Given the description of an element on the screen output the (x, y) to click on. 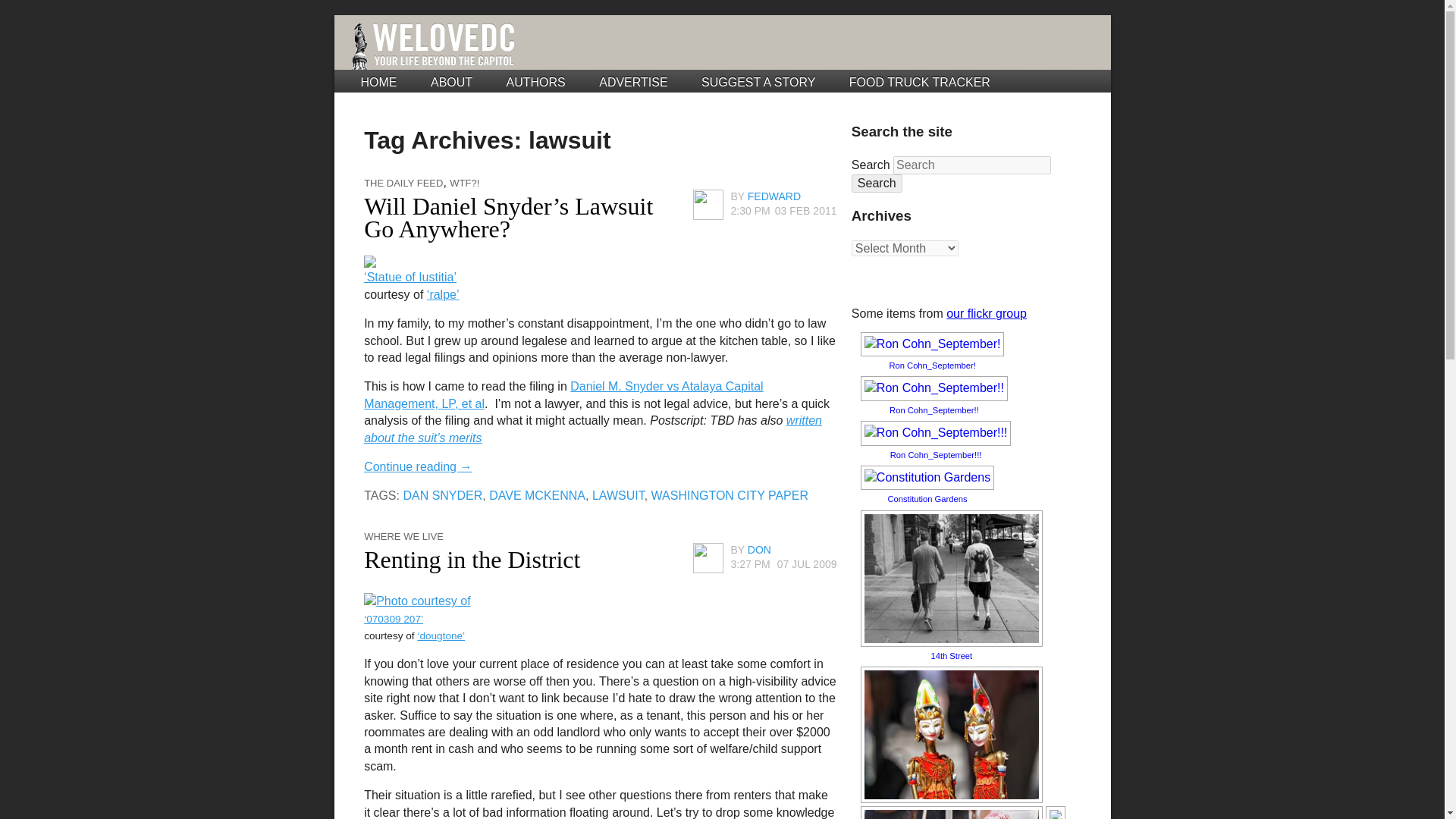
070309 207 (417, 600)
DON (759, 549)
Posts by Don (759, 549)
ADVERTISE (632, 82)
Statue of Iustitia (369, 259)
WTF?! (464, 183)
AUTHORS (536, 82)
DAN SNYDER (442, 495)
WHERE WE LIVE (404, 536)
DAVE MCKENNA (537, 495)
